Given the description of an element on the screen output the (x, y) to click on. 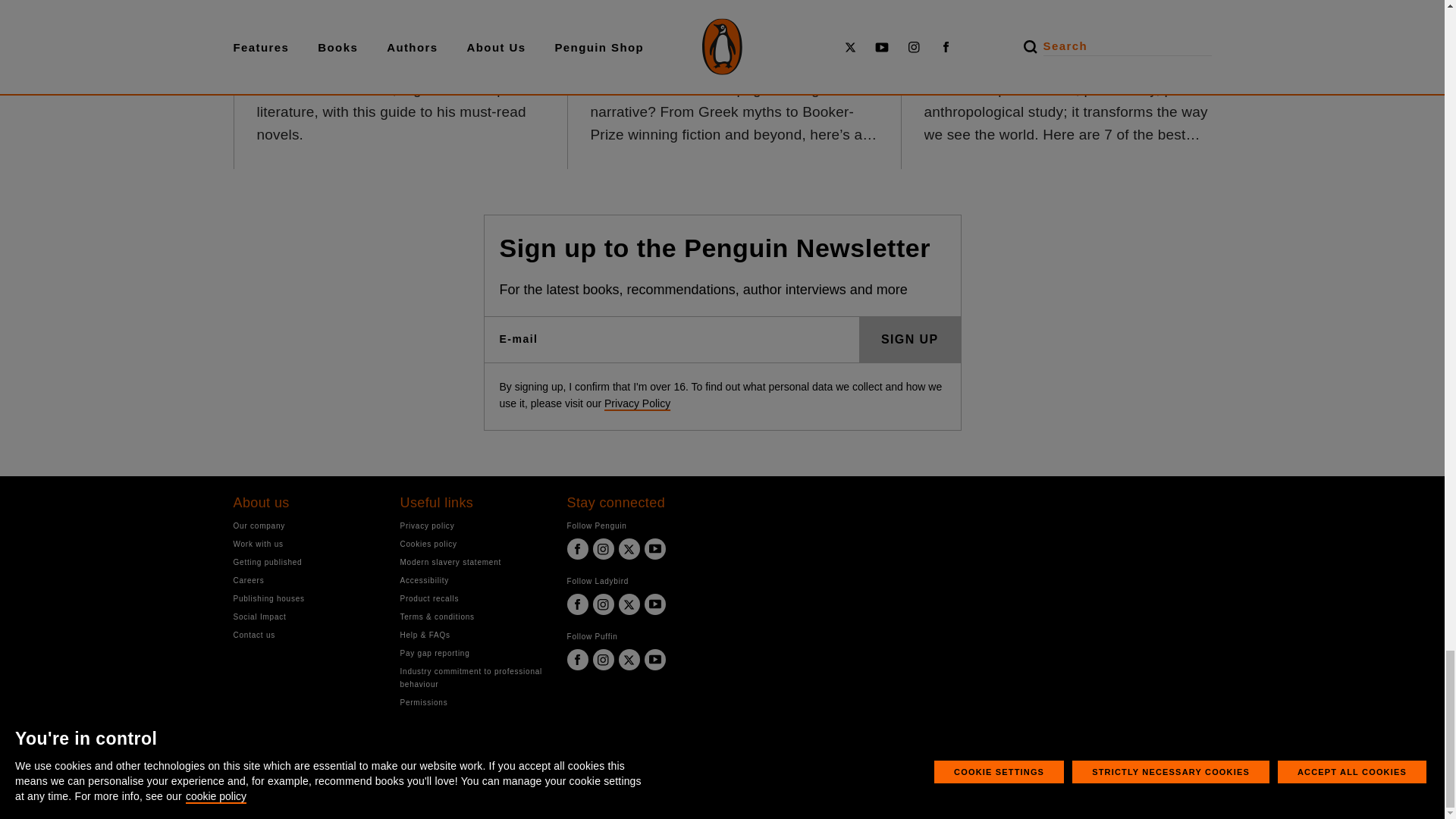
Our company (304, 525)
SIGN UP (909, 339)
Publishing houses (304, 598)
Product recalls (472, 598)
Social Impact (304, 616)
Privacy Policy (636, 403)
Accessibility (472, 580)
Modern slavery statement (472, 562)
Privacy policy (472, 525)
Pay gap reporting (472, 653)
Cookies policy (472, 543)
Contact us (304, 634)
Careers (304, 580)
Getting published (304, 562)
Work with us (304, 543)
